Given the description of an element on the screen output the (x, y) to click on. 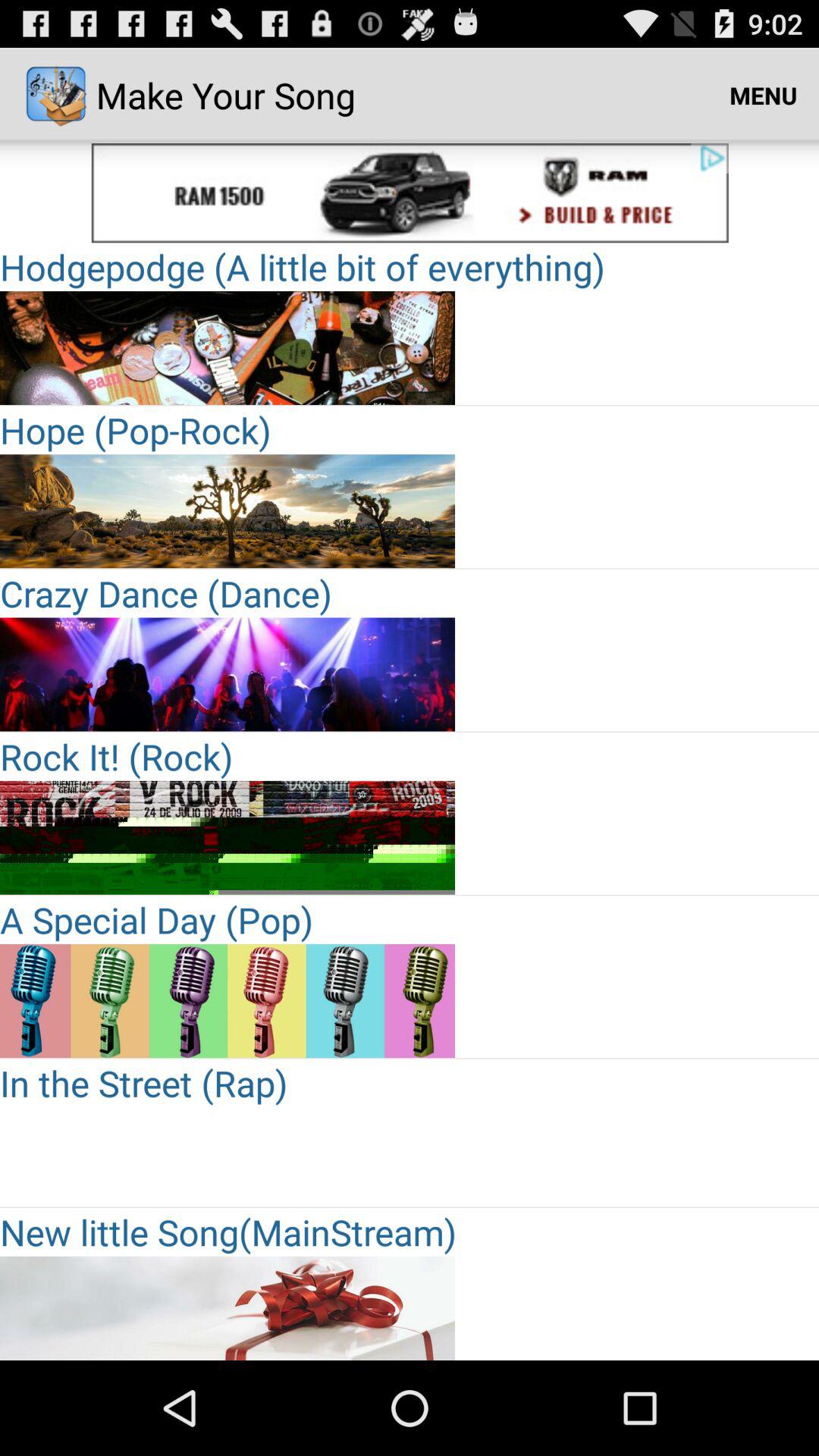
select the option (227, 1000)
